Given the description of an element on the screen output the (x, y) to click on. 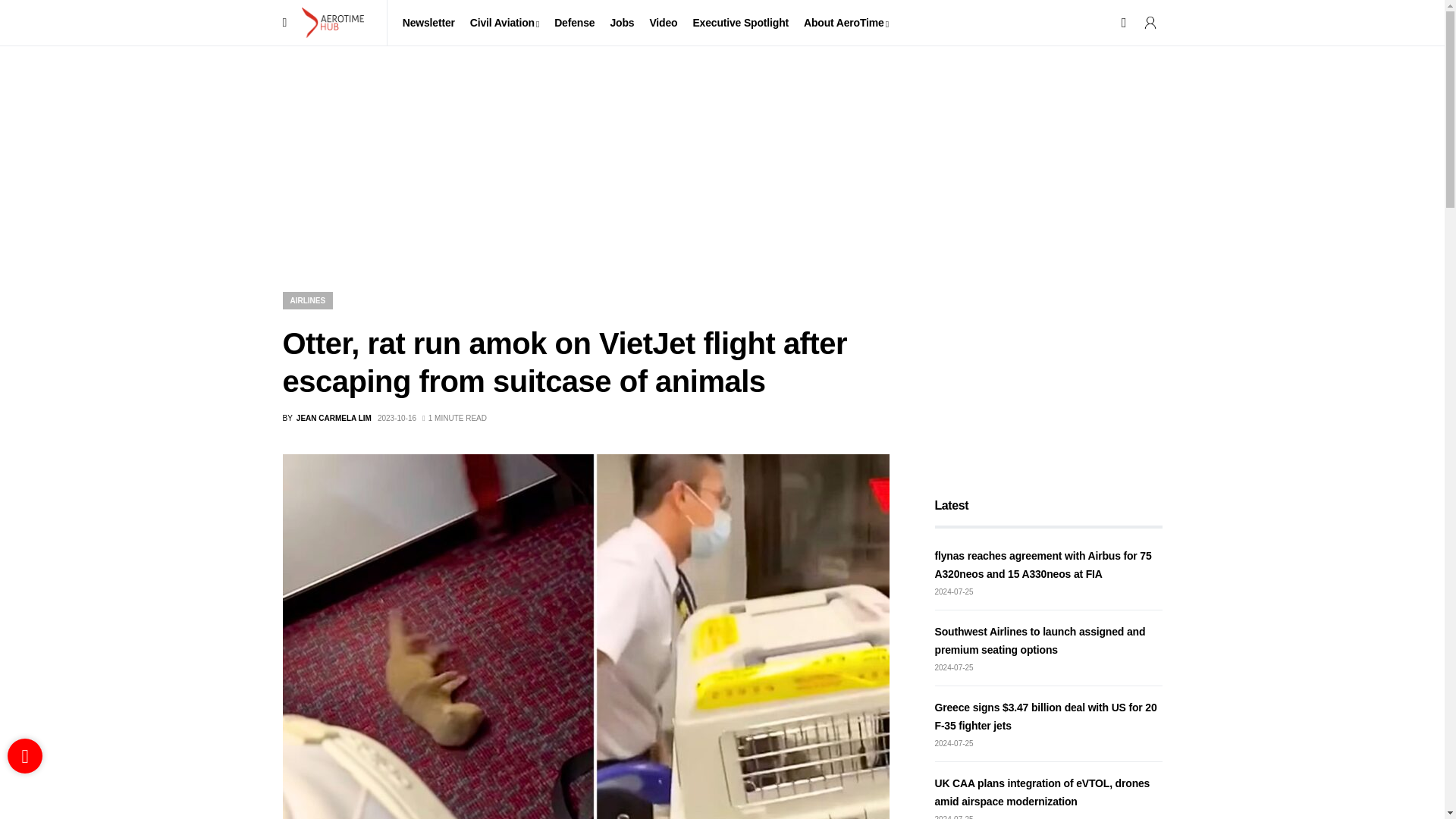
View all posts by Jean Carmela Lim (326, 418)
Newsletter (428, 22)
Civil Aviation (504, 22)
